Given the description of an element on the screen output the (x, y) to click on. 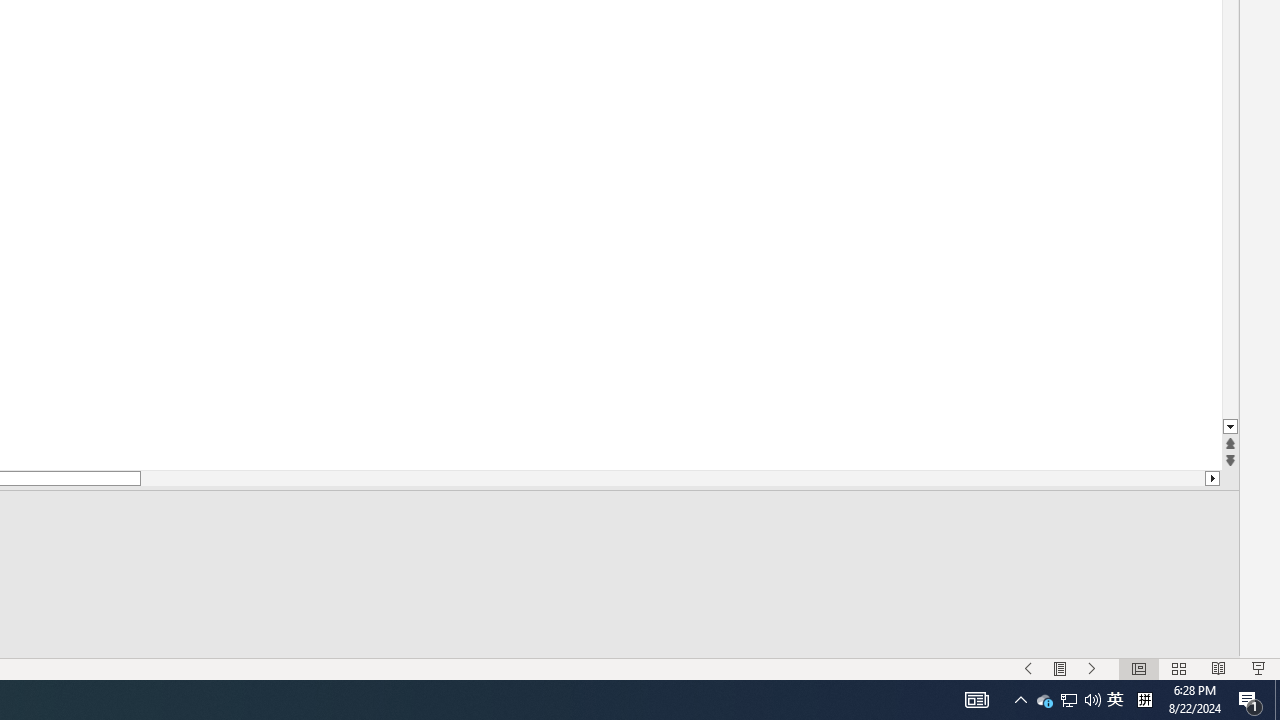
Slide Show Next On (1092, 668)
Menu On (1060, 668)
Slide Show Previous On (1028, 668)
